Given the description of an element on the screen output the (x, y) to click on. 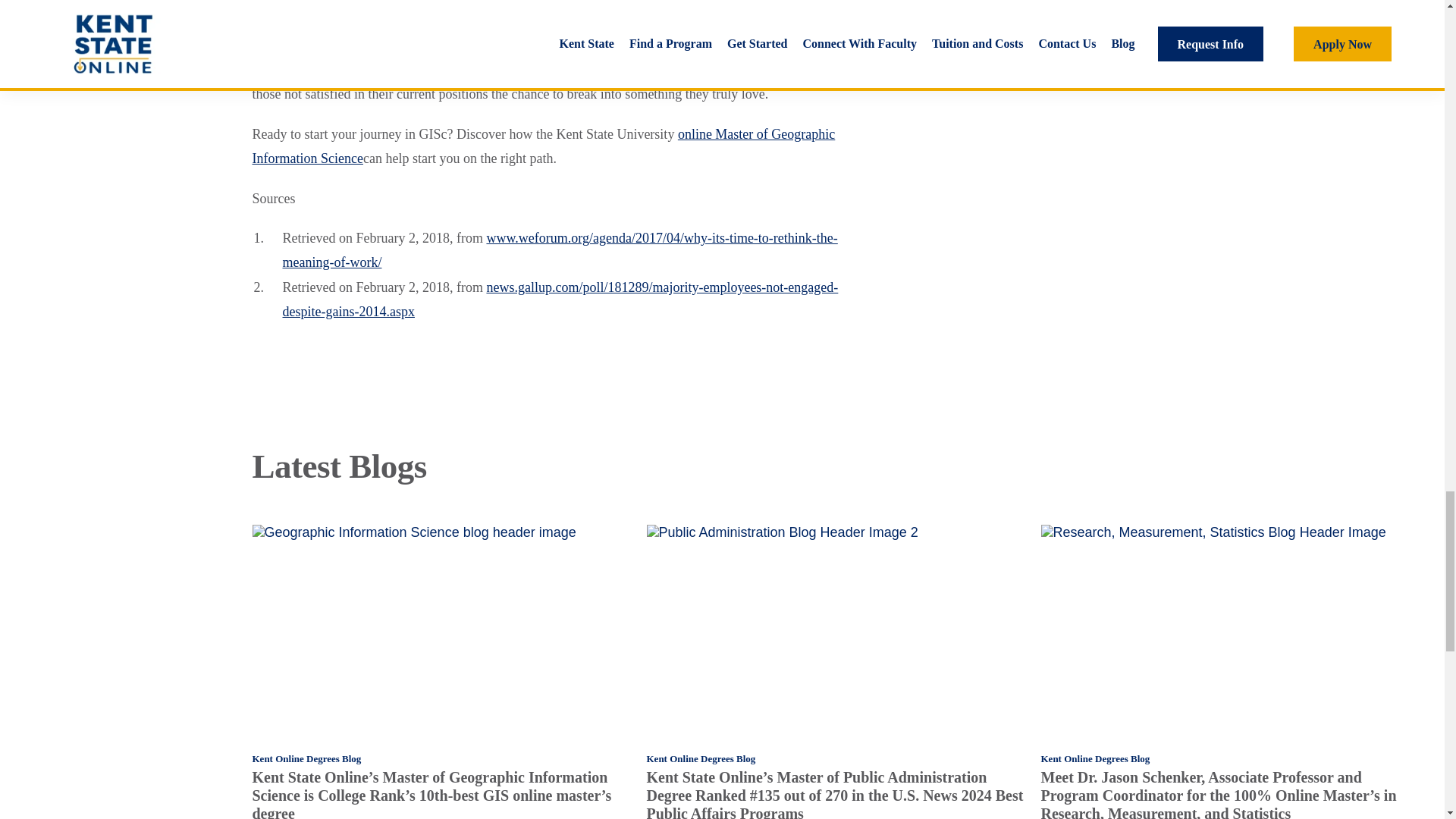
online Master of Geographic Information Science (542, 146)
